Given the description of an element on the screen output the (x, y) to click on. 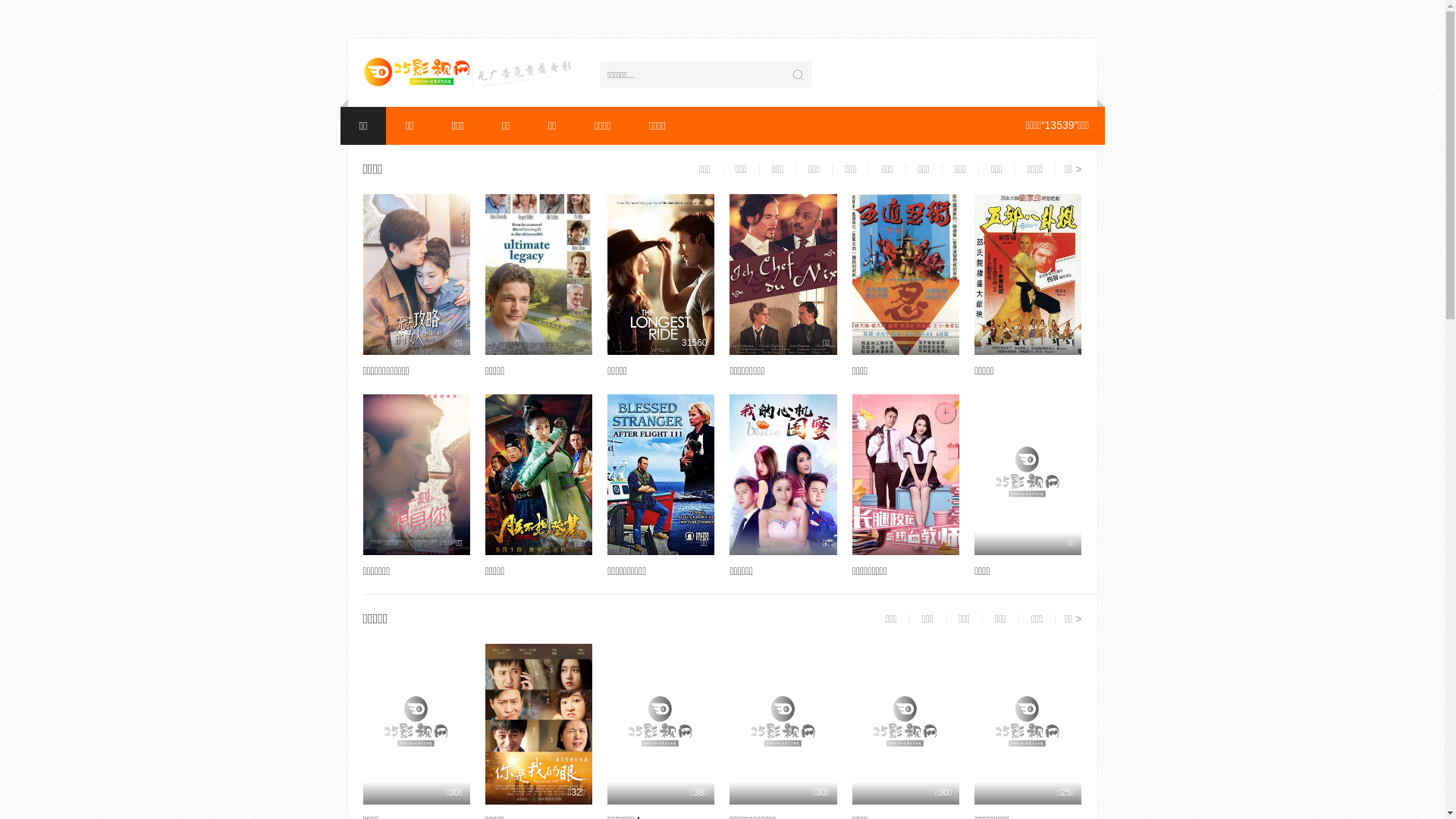
31560 Element type: text (660, 274)
